Given the description of an element on the screen output the (x, y) to click on. 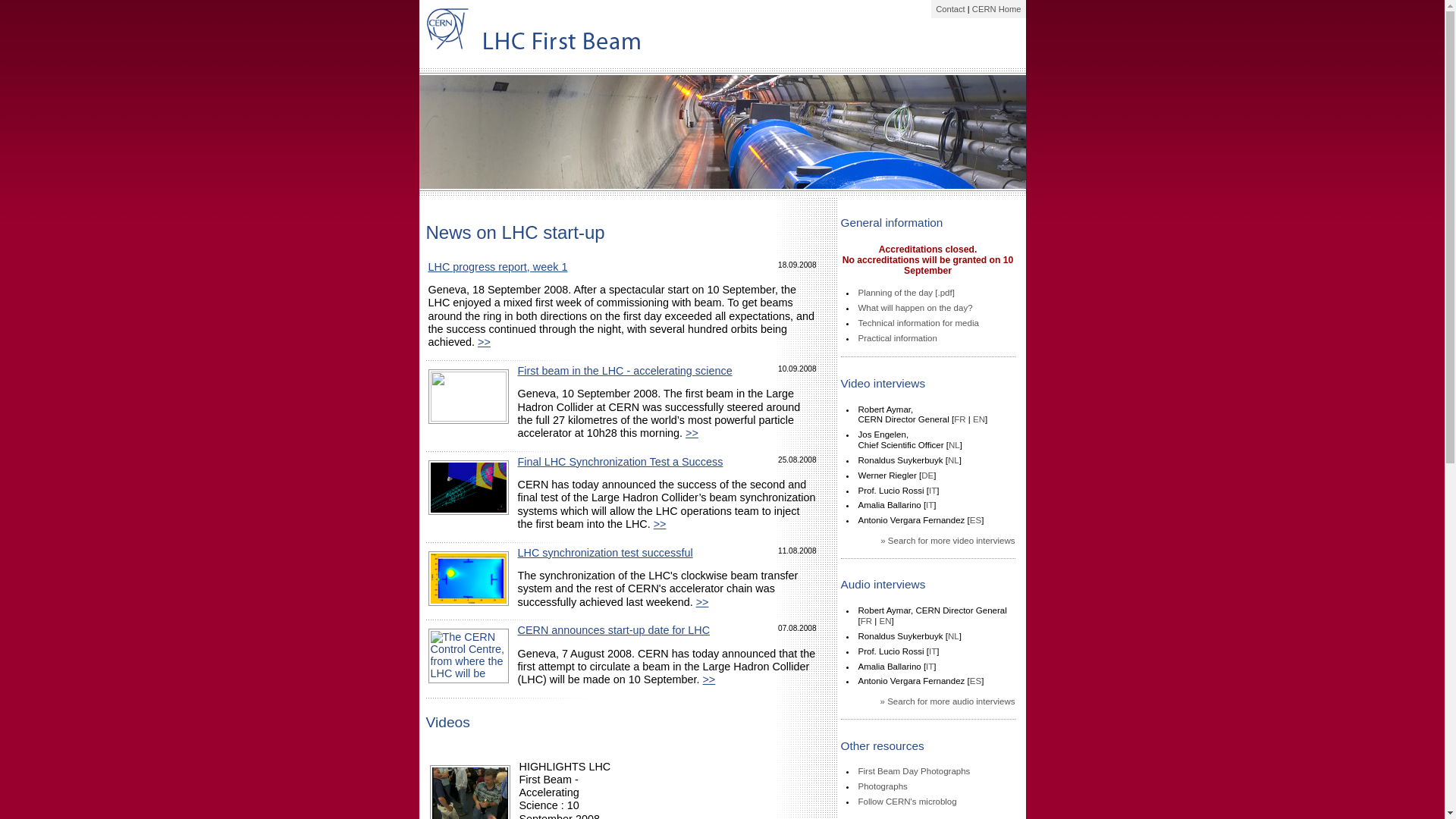
>> Element type: text (702, 602)
IT Element type: text (929, 666)
Technical information for media Element type: text (918, 322)
LHC synchronization test successful Element type: text (604, 552)
Final LHC Synchronization Test a Success Element type: text (619, 461)
Practical information Element type: text (897, 337)
NL Element type: text (953, 635)
>> Element type: text (659, 523)
ES Element type: text (975, 519)
>> Element type: text (483, 341)
In the LHC tunnel Element type: hover (721, 131)
First Beam Day Photographs Element type: text (914, 770)
Planning of the day [.pdf] Element type: text (906, 292)
DE Element type: text (927, 475)
FR Element type: text (866, 620)
>> Element type: text (691, 432)
CERN Home Element type: text (996, 8)
IT Element type: text (932, 489)
IT Element type: text (929, 504)
Follow CERN's microblog Element type: text (907, 801)
NL Element type: text (953, 459)
First beam in the LHC - accelerating science Element type: text (624, 370)
What will happen on the day? Element type: text (915, 307)
CERN announces start-up date for LHC Element type: text (613, 630)
Photographs Element type: text (882, 785)
FR Element type: text (959, 418)
IT Element type: text (932, 650)
EN Element type: text (978, 418)
NL Element type: text (954, 444)
>> Element type: text (708, 679)
Contact Element type: text (950, 8)
LHC progress report, week 1 Element type: text (497, 266)
ES Element type: text (975, 680)
EN Element type: text (884, 620)
